Given the description of an element on the screen output the (x, y) to click on. 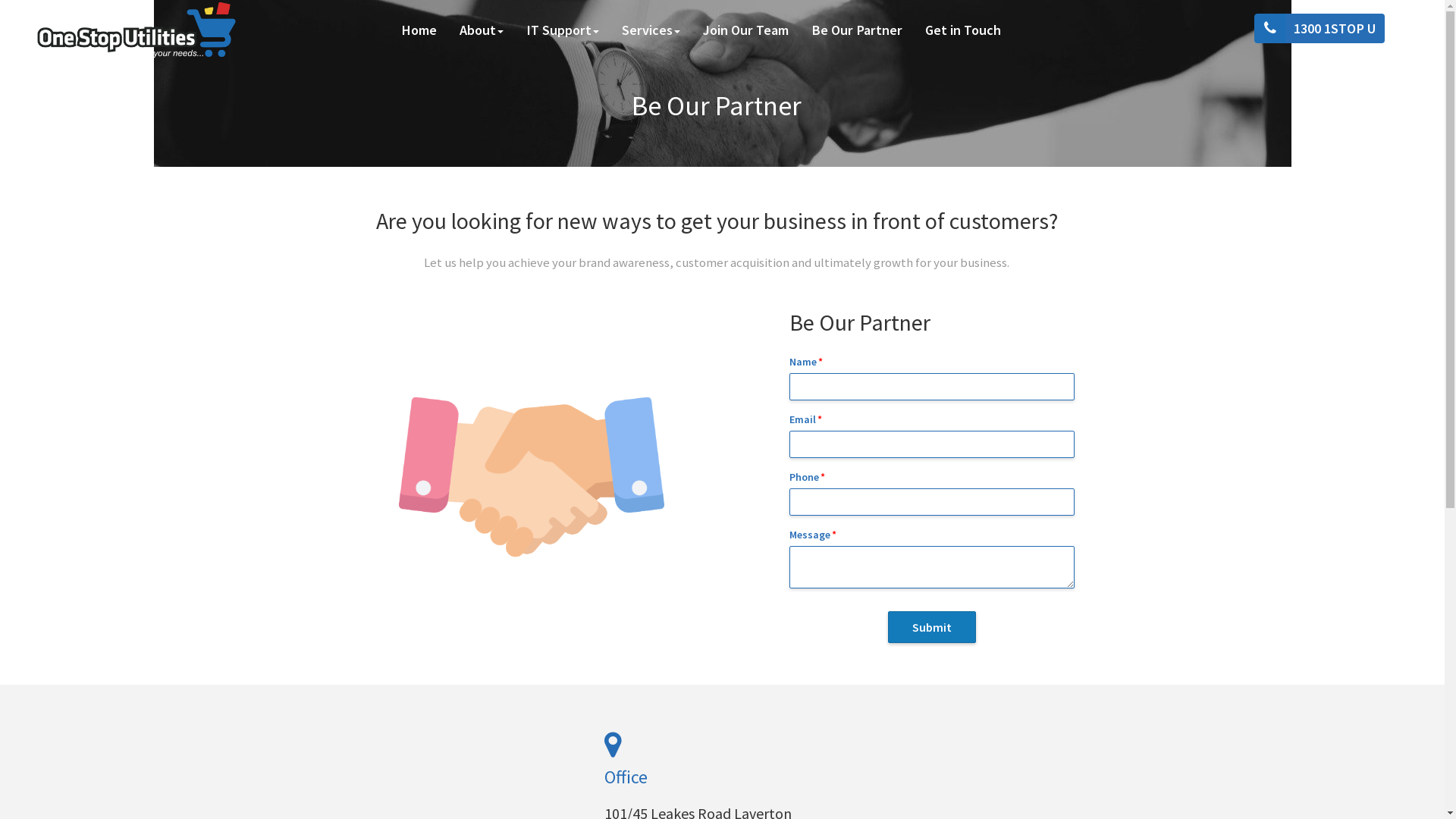
Be Our Partner Element type: text (856, 30)
Join Our Team Element type: text (745, 30)
1300 1STOP U Element type: text (1323, 28)
IT Support Element type: text (562, 30)
Home Element type: text (418, 30)
About Element type: text (481, 30)
Services Element type: text (650, 30)
Get in Touch Element type: text (962, 30)
Submit Element type: text (931, 627)
